Given the description of an element on the screen output the (x, y) to click on. 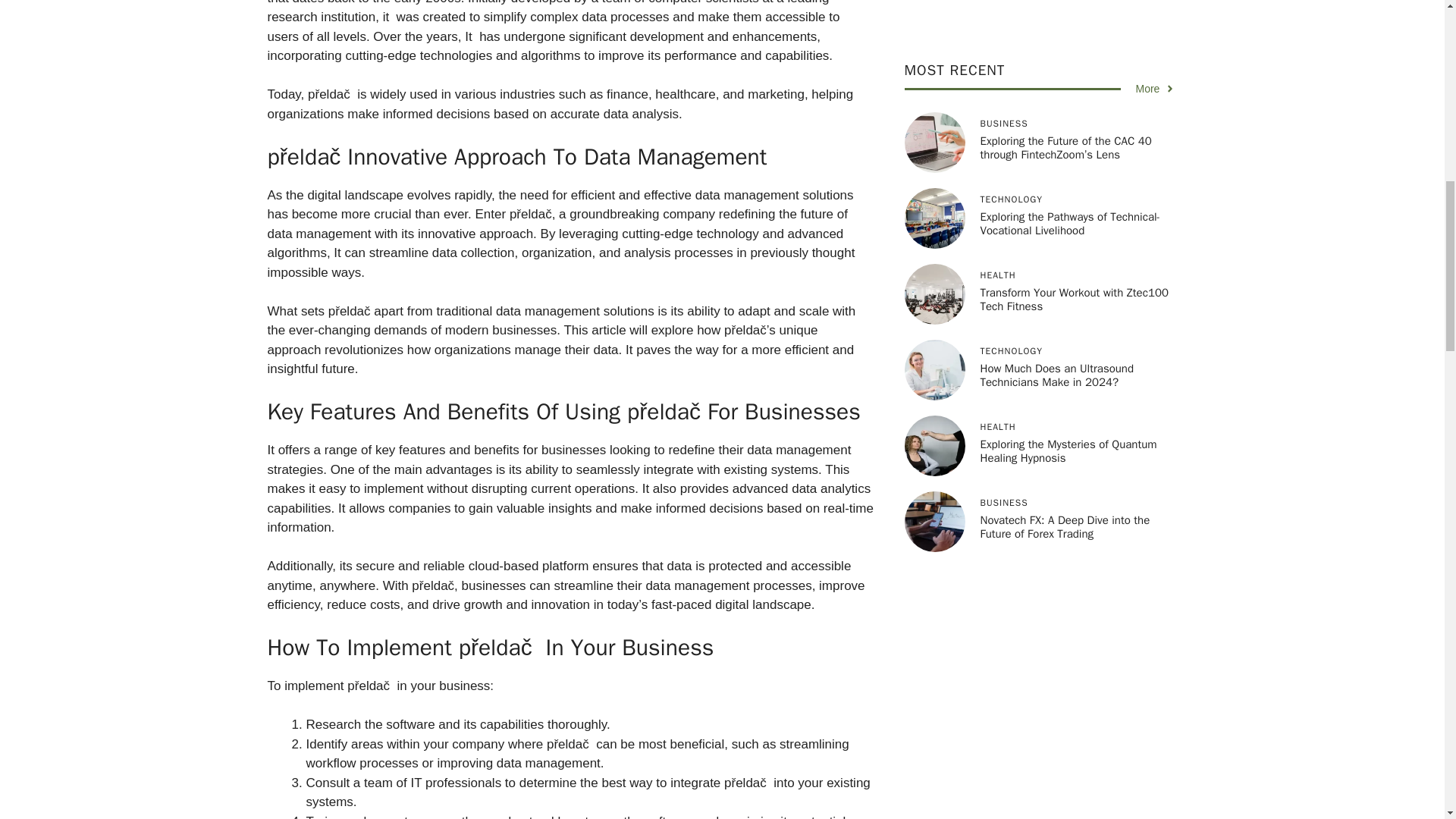
Novatech FX: A Deep Dive into the Future of Forex Trading (1064, 60)
